Given the description of an element on the screen output the (x, y) to click on. 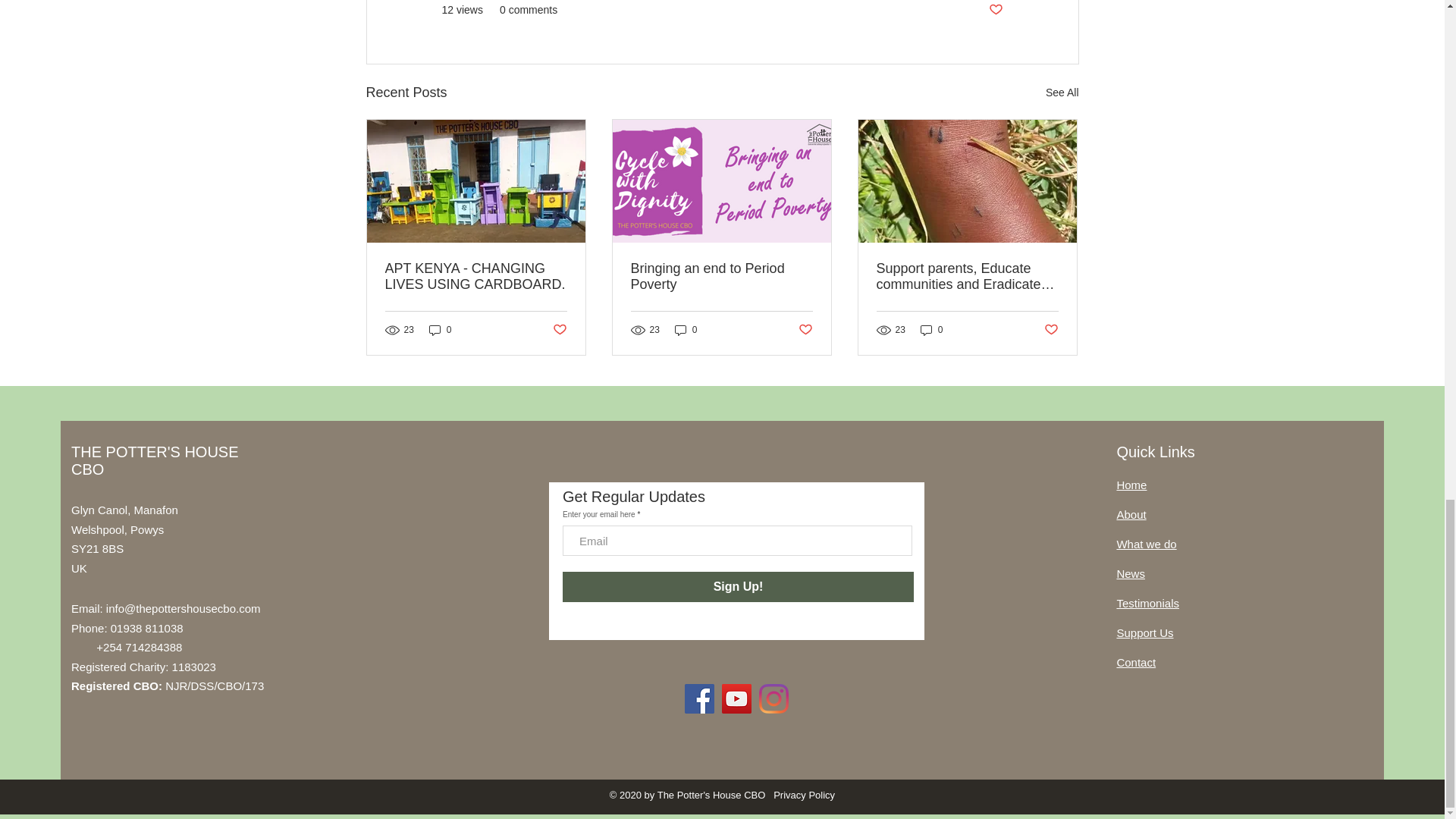
See All (1061, 92)
Post not marked as liked (995, 10)
Bringing an end to Period Poverty (721, 276)
APT KENYA - CHANGING LIVES USING CARDBOARD. (476, 276)
0 (440, 329)
Post not marked as liked (558, 330)
